Given the description of an element on the screen output the (x, y) to click on. 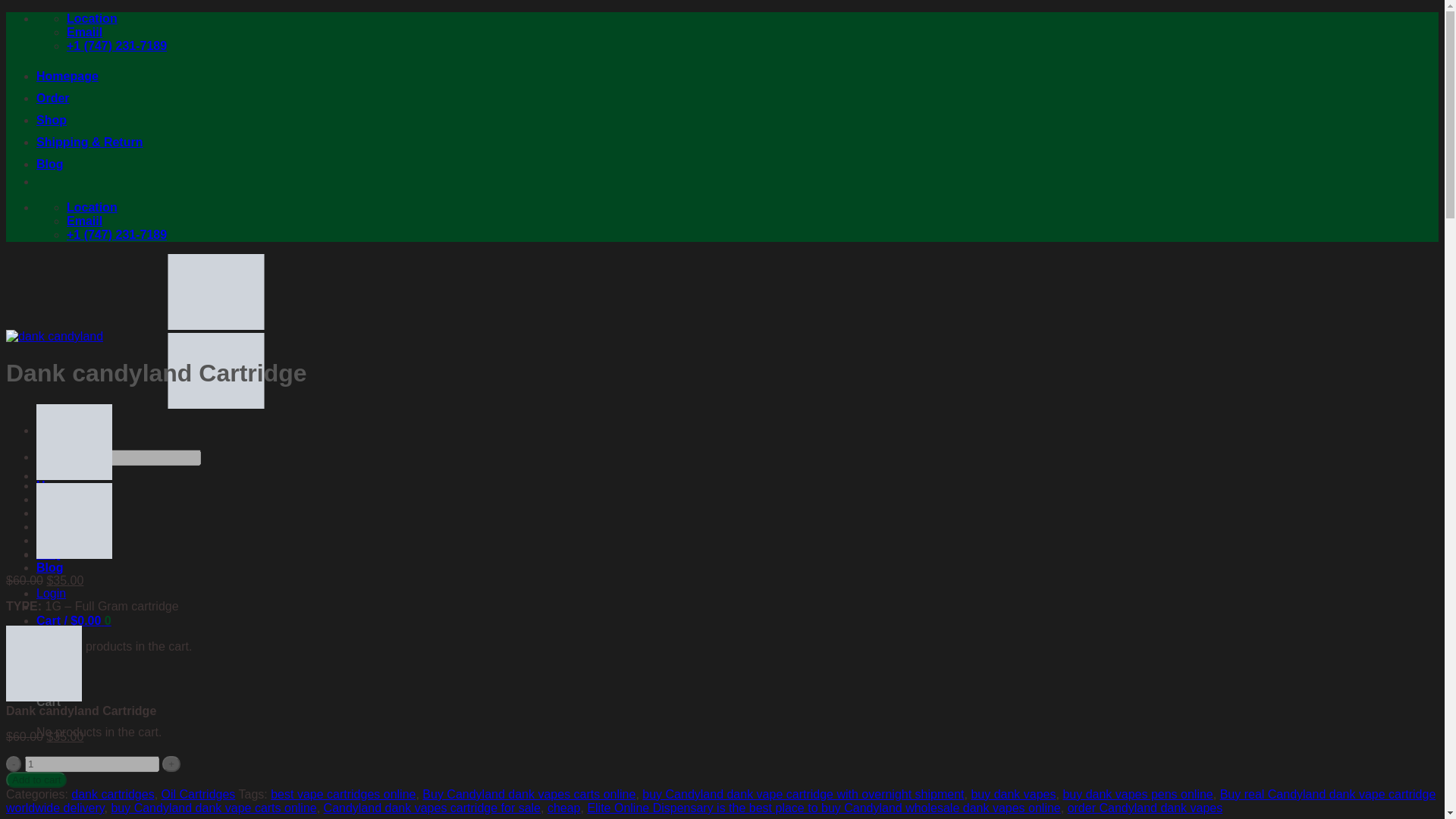
Emaiil (83, 31)
Reviews (60, 512)
Los Angeles, CA, USA (91, 206)
Cart (74, 620)
Contact (58, 526)
Los Angeles, CA, USA (91, 18)
Location (91, 206)
Cart (39, 671)
Elite Online Dispensary - Best Online Shop (215, 365)
dank candyland (54, 336)
- (13, 763)
Homepage (67, 75)
Location (91, 18)
Shop (51, 119)
dank cartridges (112, 793)
